Given the description of an element on the screen output the (x, y) to click on. 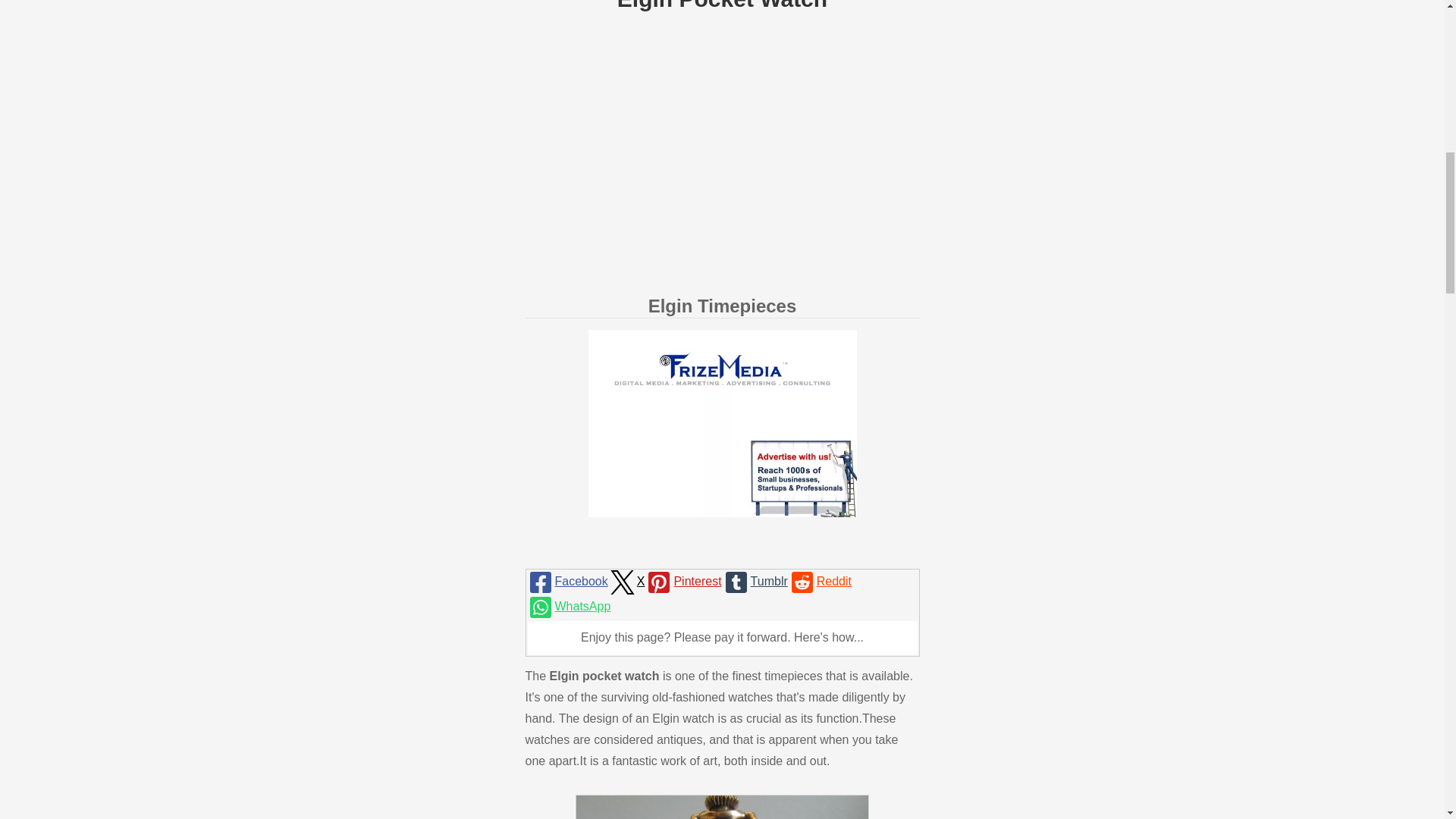
X (626, 581)
Facebook (566, 581)
Pinterest (682, 581)
Tumblr (754, 581)
WhatsApp (568, 606)
Reddit (819, 581)
